Given the description of an element on the screen output the (x, y) to click on. 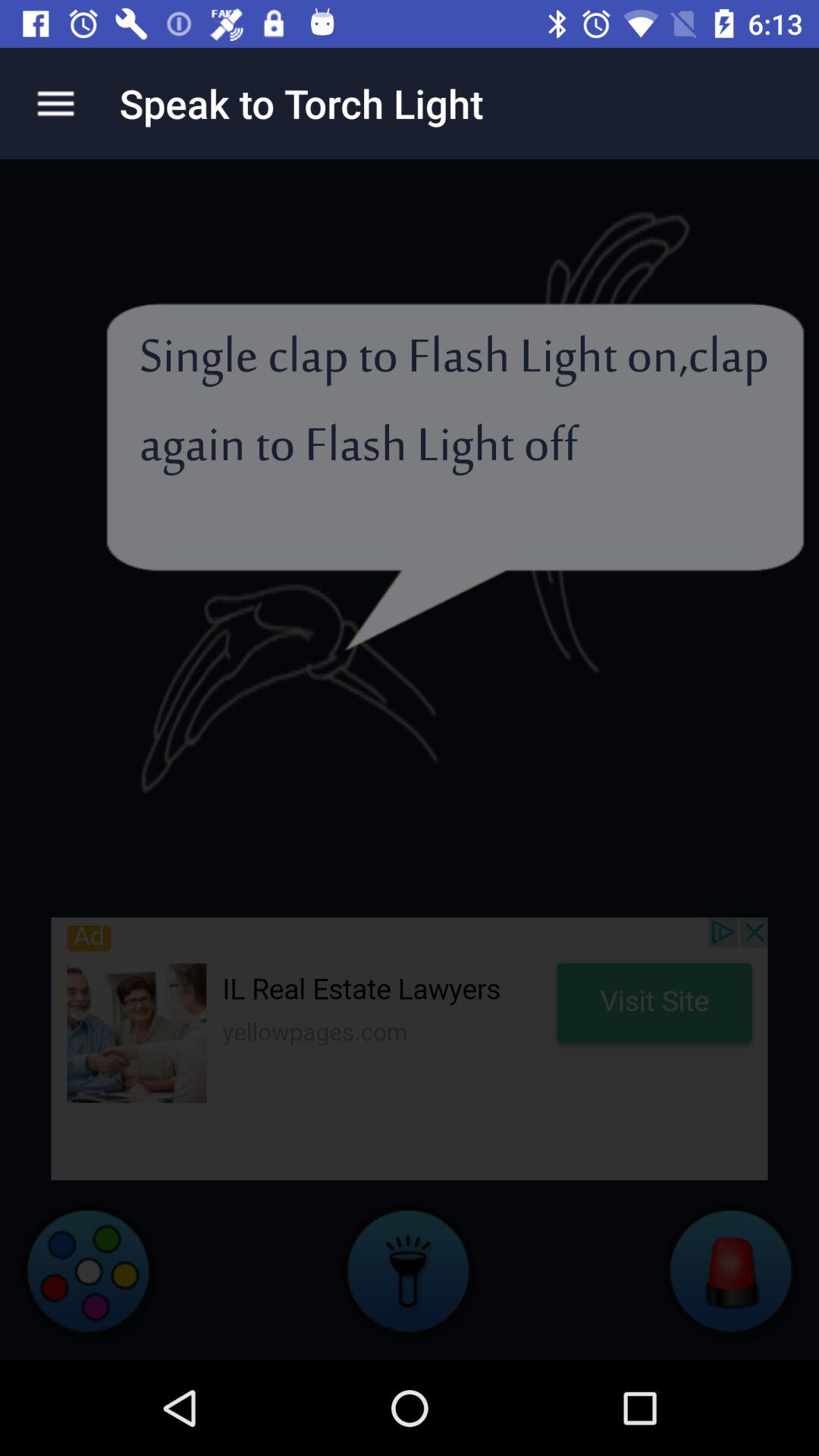
select colors (87, 1270)
